Given the description of an element on the screen output the (x, y) to click on. 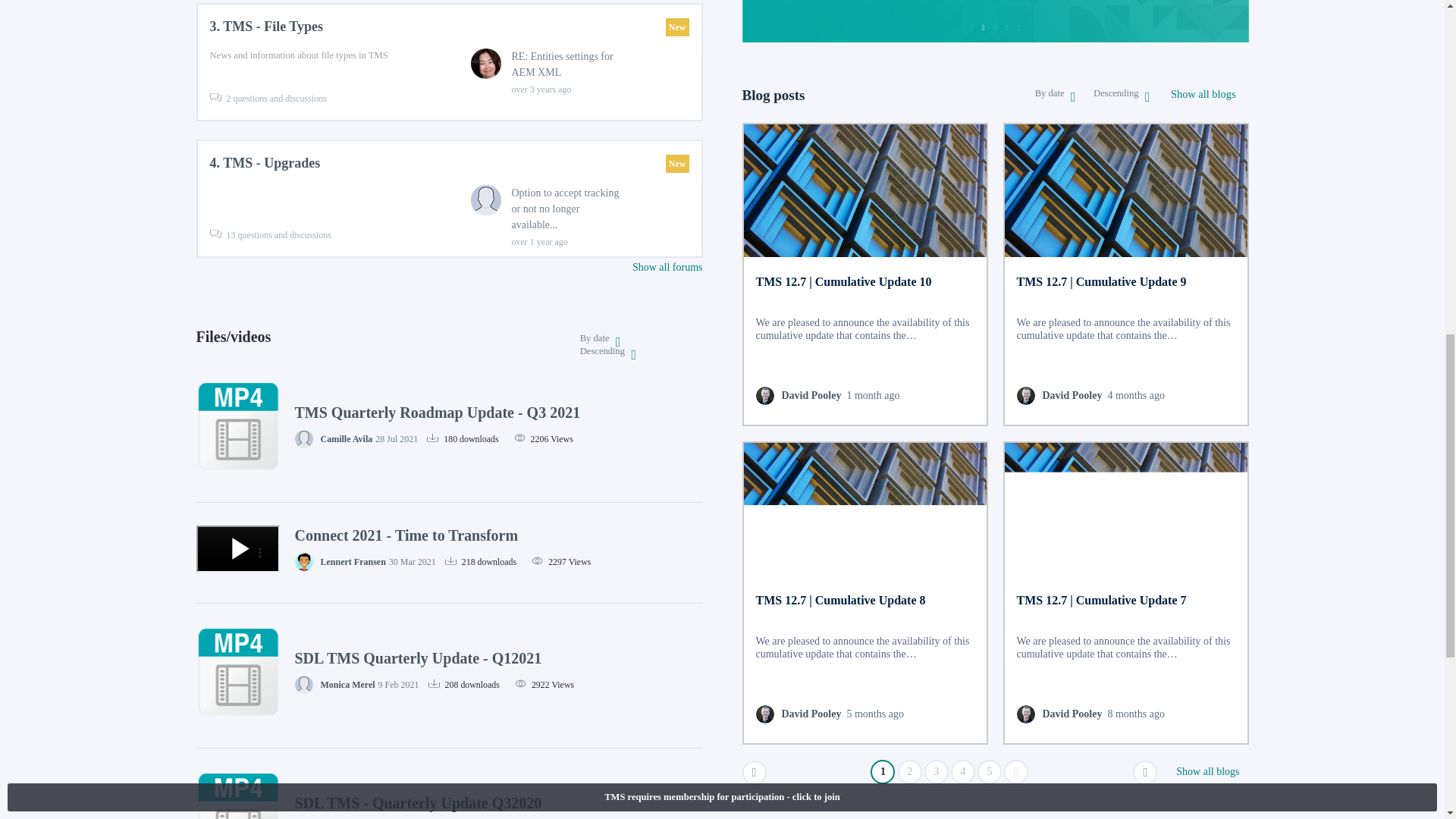
Go to page 4 (962, 771)
Go to last page (1015, 771)
Go to page 3 (936, 771)
Go to page 2 (909, 771)
Go to page 1 (882, 771)
Go to next page (1144, 772)
Go to page 5 (988, 771)
